Given the description of an element on the screen output the (x, y) to click on. 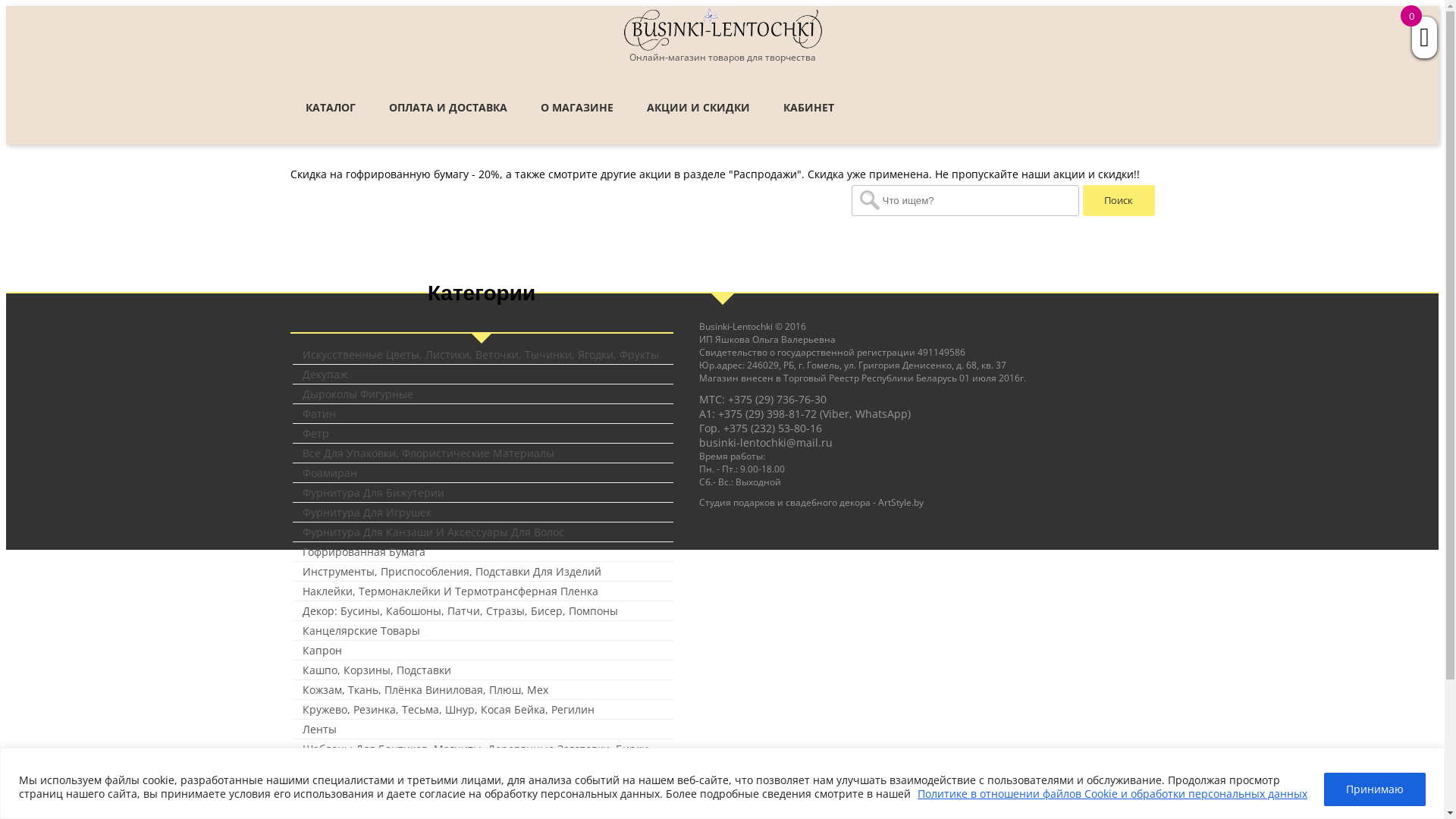
+375 (29) 736-76-30 Element type: text (777, 399)
Search for: Element type: hover (964, 200)
+375 (29) 398-81-72 (Viber, WhatsApp) Element type: text (814, 413)
+375 (232) 53-80-16 Element type: text (772, 427)
businki-lentochki@mail.ru Element type: text (765, 442)
